Given the description of an element on the screen output the (x, y) to click on. 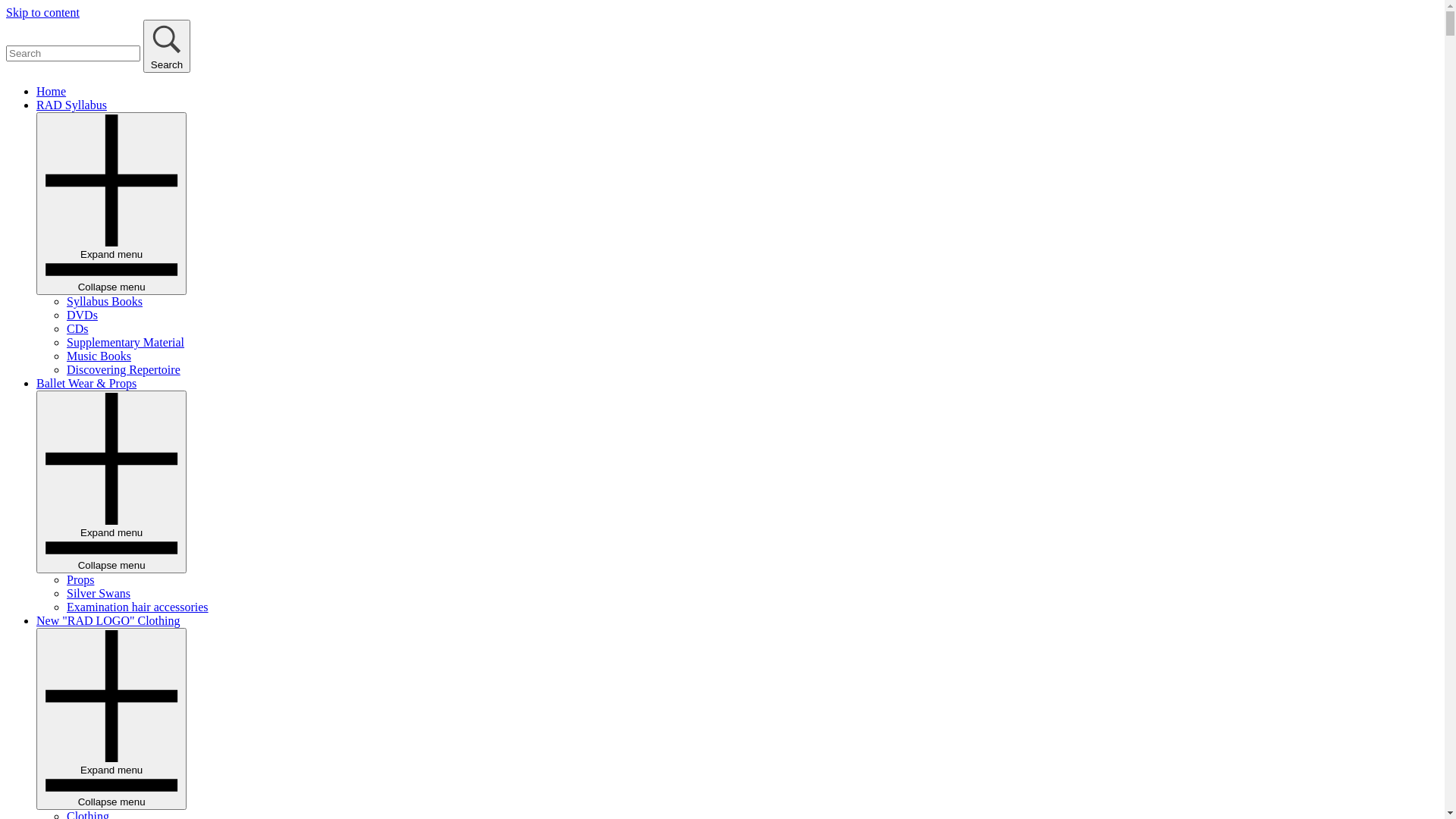
New "RAD LOGO" Clothing Element type: text (108, 620)
Syllabus Books Element type: text (104, 300)
Supplementary Material Element type: text (125, 341)
RAD Syllabus Element type: text (71, 104)
Ballet Wear & Props Element type: text (86, 382)
Expand menu Collapse menu Element type: text (111, 203)
Skip to content Element type: text (42, 12)
Props Element type: text (80, 579)
Search Element type: text (166, 45)
CDs Element type: text (76, 328)
Silver Swans Element type: text (98, 592)
Expand menu Collapse menu Element type: text (111, 481)
Expand menu Collapse menu Element type: text (111, 718)
Music Books Element type: text (98, 355)
Home Element type: text (50, 90)
Examination hair accessories Element type: text (137, 606)
DVDs Element type: text (81, 314)
Discovering Repertoire Element type: text (123, 369)
